Given the description of an element on the screen output the (x, y) to click on. 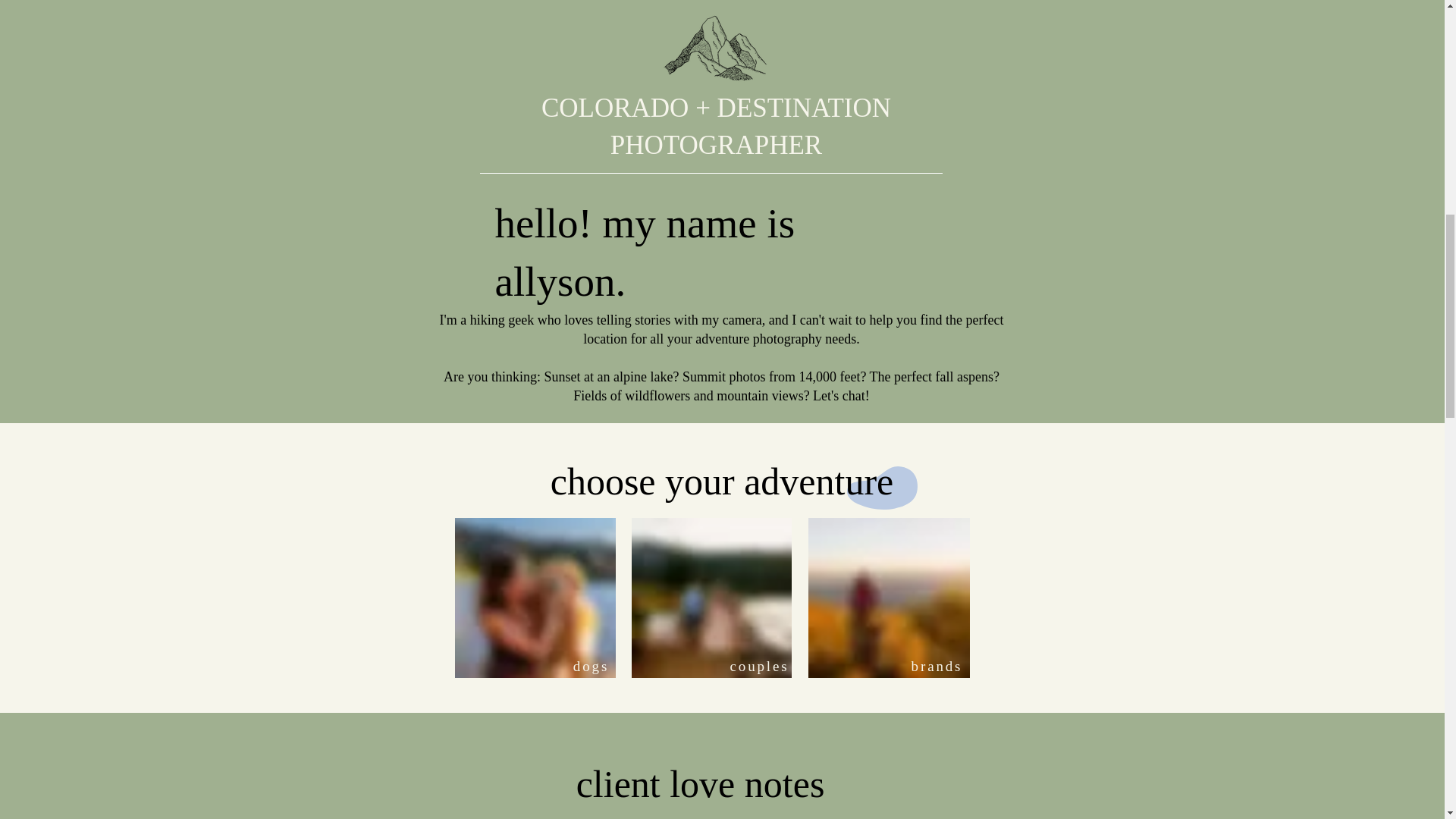
dogs (590, 666)
brands (936, 666)
couples (759, 666)
